Given the description of an element on the screen output the (x, y) to click on. 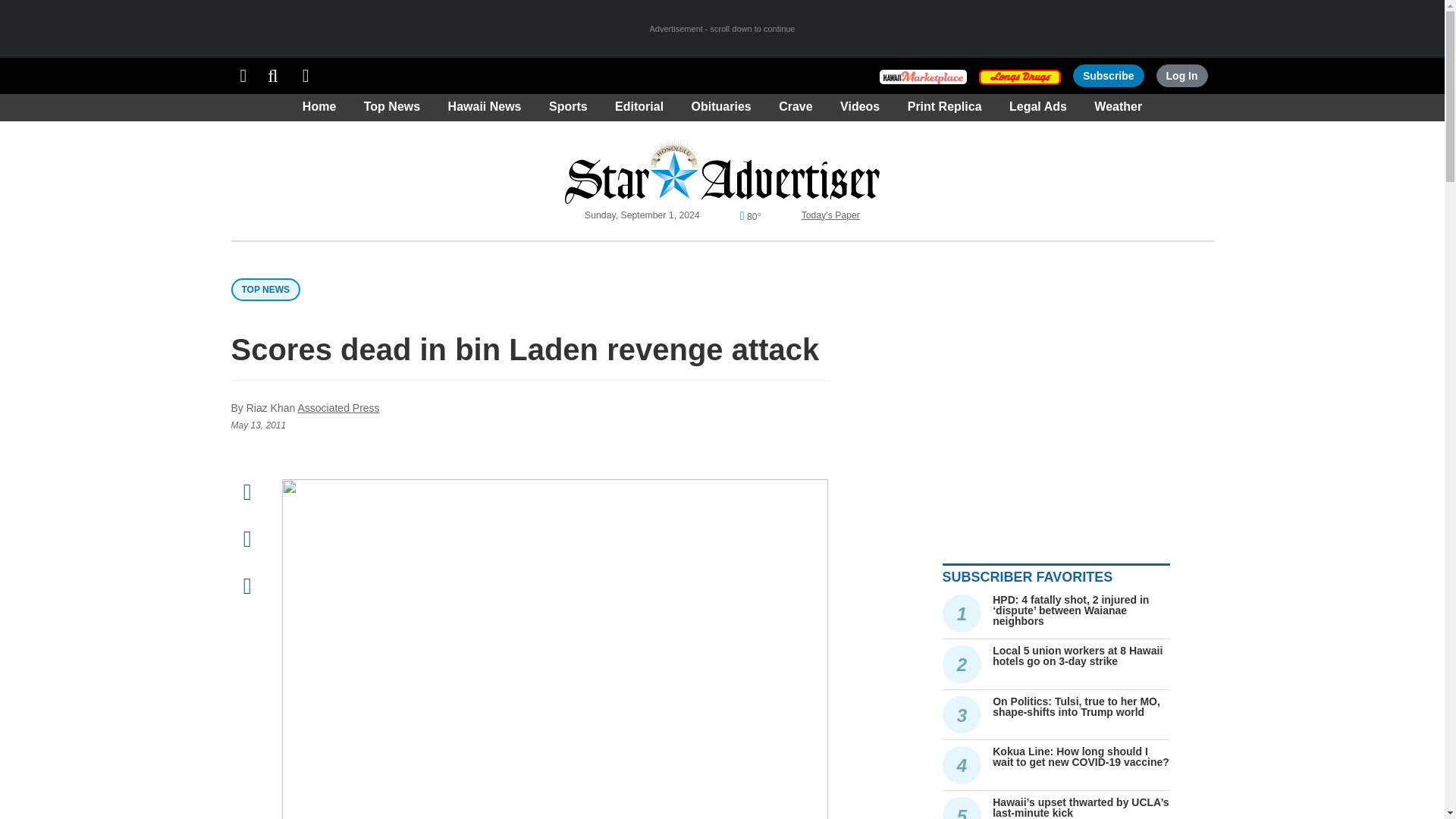
See more stories by Associated Press (337, 408)
Subscribe (1108, 75)
Print Replica (306, 75)
Search (272, 75)
Log In (1182, 75)
Sections (243, 75)
Honolulu Star-Advertiser (721, 169)
